Given the description of an element on the screen output the (x, y) to click on. 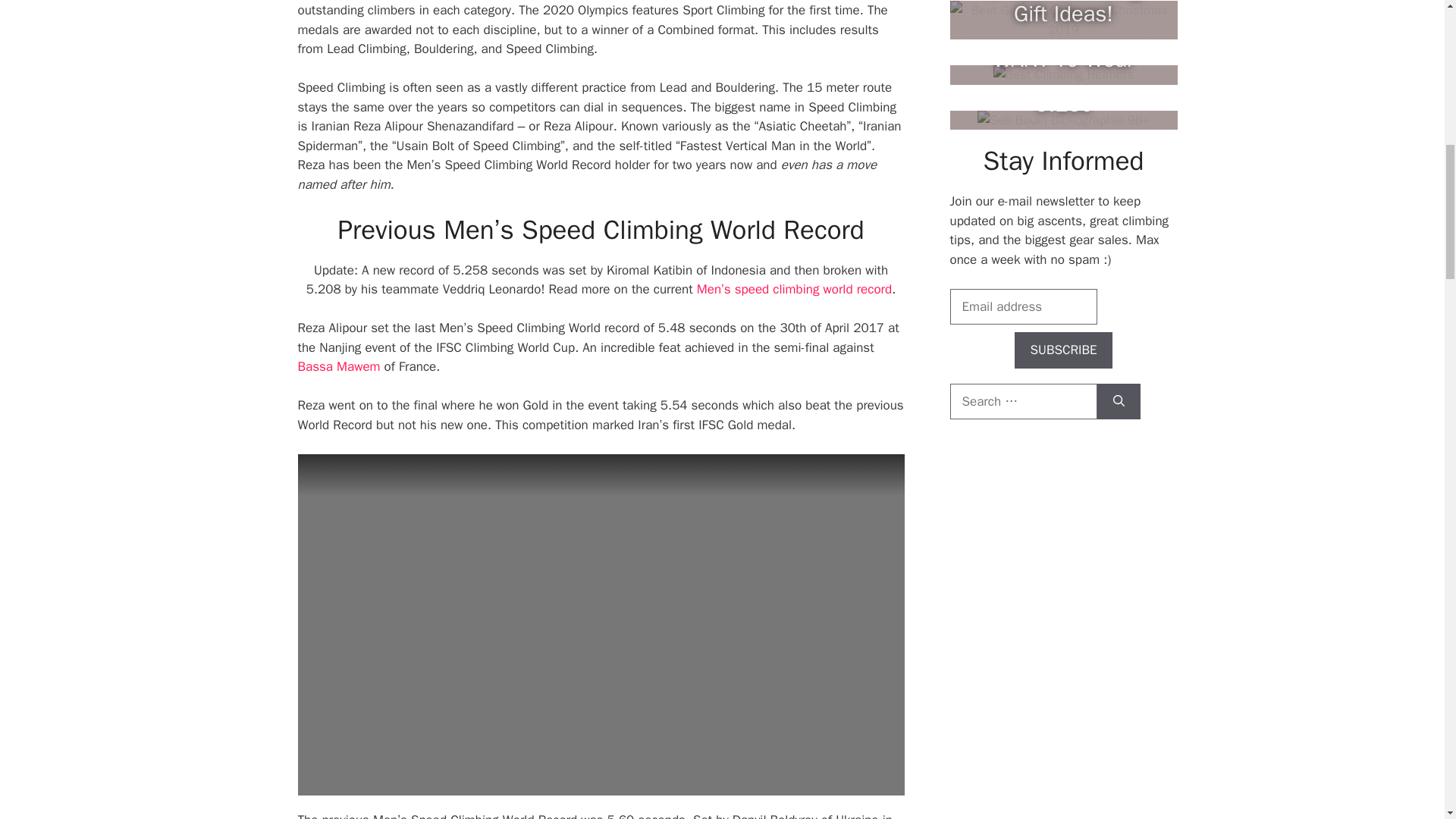
Scroll back to top (1406, 720)
Search for: (1022, 402)
Subscribe (1063, 350)
